Given the description of an element on the screen output the (x, y) to click on. 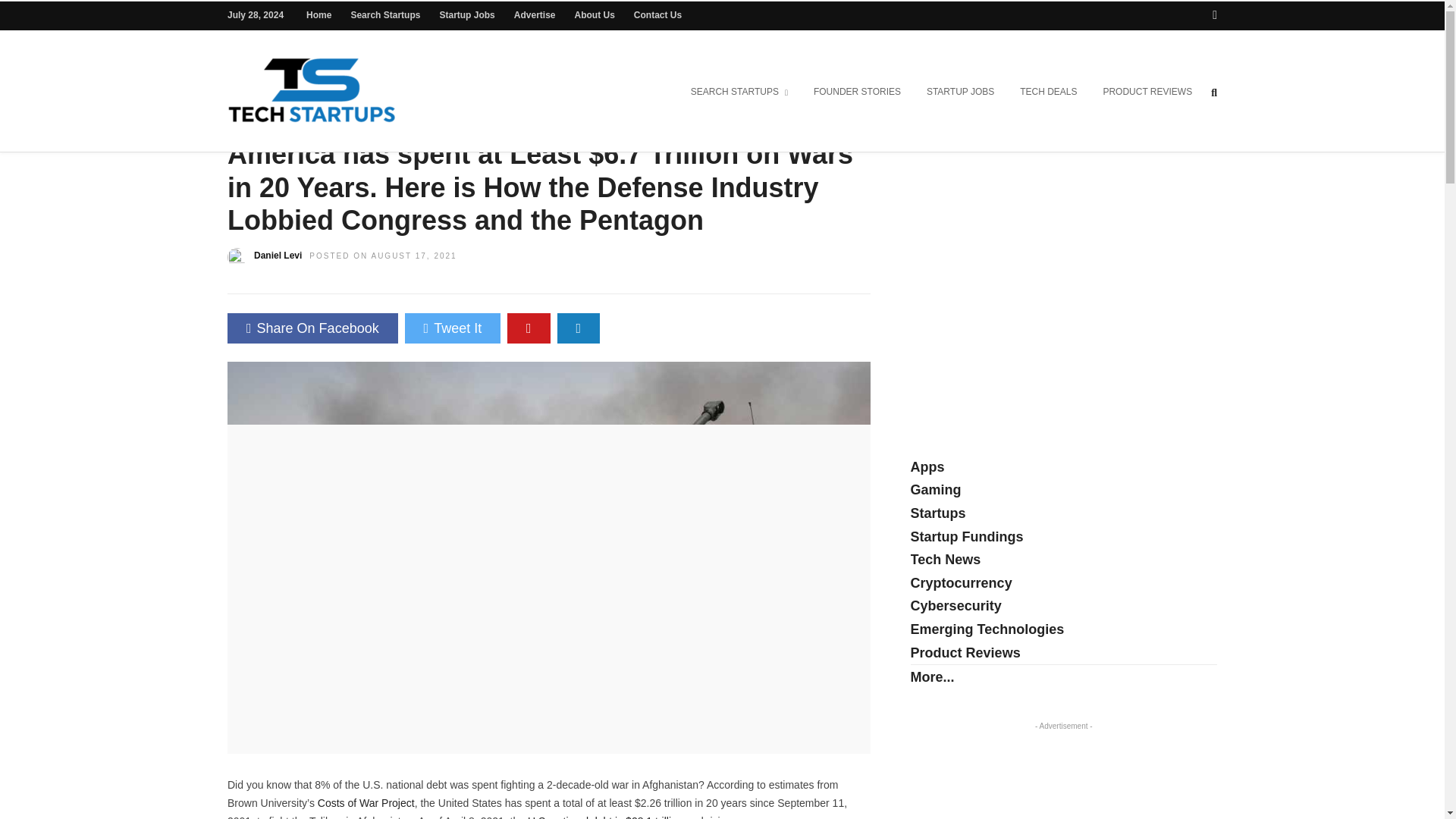
Advertise (534, 14)
Share by Email (578, 327)
Startup Jobs (467, 14)
Share On Twitter (452, 327)
TECHNOLOGY NEWS (333, 122)
FOUNDER STORIES (857, 92)
Share On Facebook (312, 327)
STARTUP JOBS (960, 92)
Contact Us (657, 14)
TECH DEALS (1048, 92)
Tweet It (452, 327)
PRODUCT REVIEWS (1147, 92)
HOME (243, 122)
Search Startups (385, 14)
Daniel Levi (277, 255)
